Given the description of an element on the screen output the (x, y) to click on. 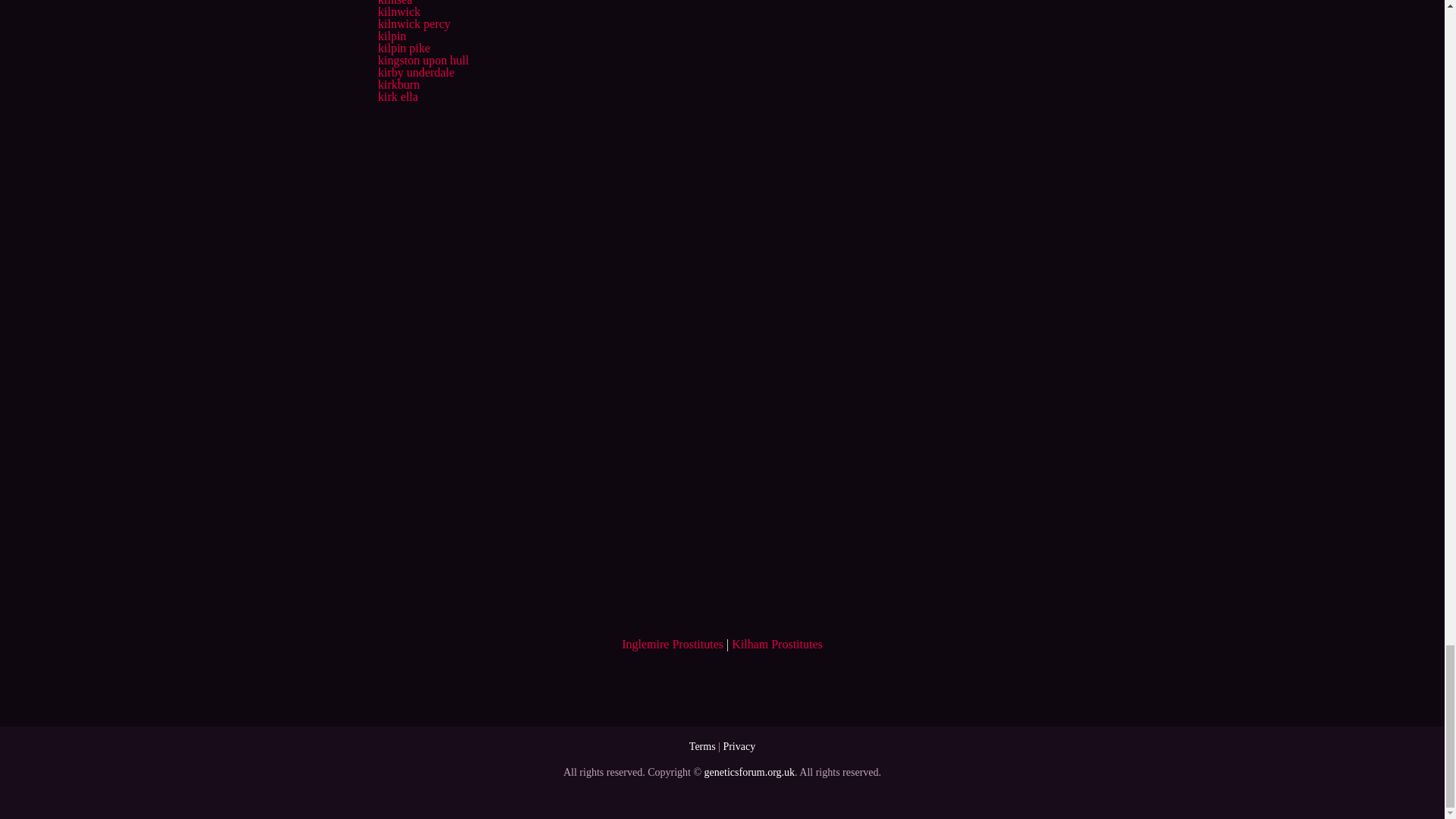
Inglemire Prostitutes (672, 644)
Terms (702, 746)
kingston upon hull (422, 60)
kirby underdale (415, 72)
Privacy (738, 746)
kilnsea (394, 2)
Terms (702, 746)
Privacy (738, 746)
kilnwick (398, 11)
kirkburn (398, 83)
kilpin pike (403, 47)
kilpin (391, 35)
kilnwick percy (413, 23)
Kilham Prostitutes (777, 644)
geneticsforum.org.uk (749, 772)
